Given the description of an element on the screen output the (x, y) to click on. 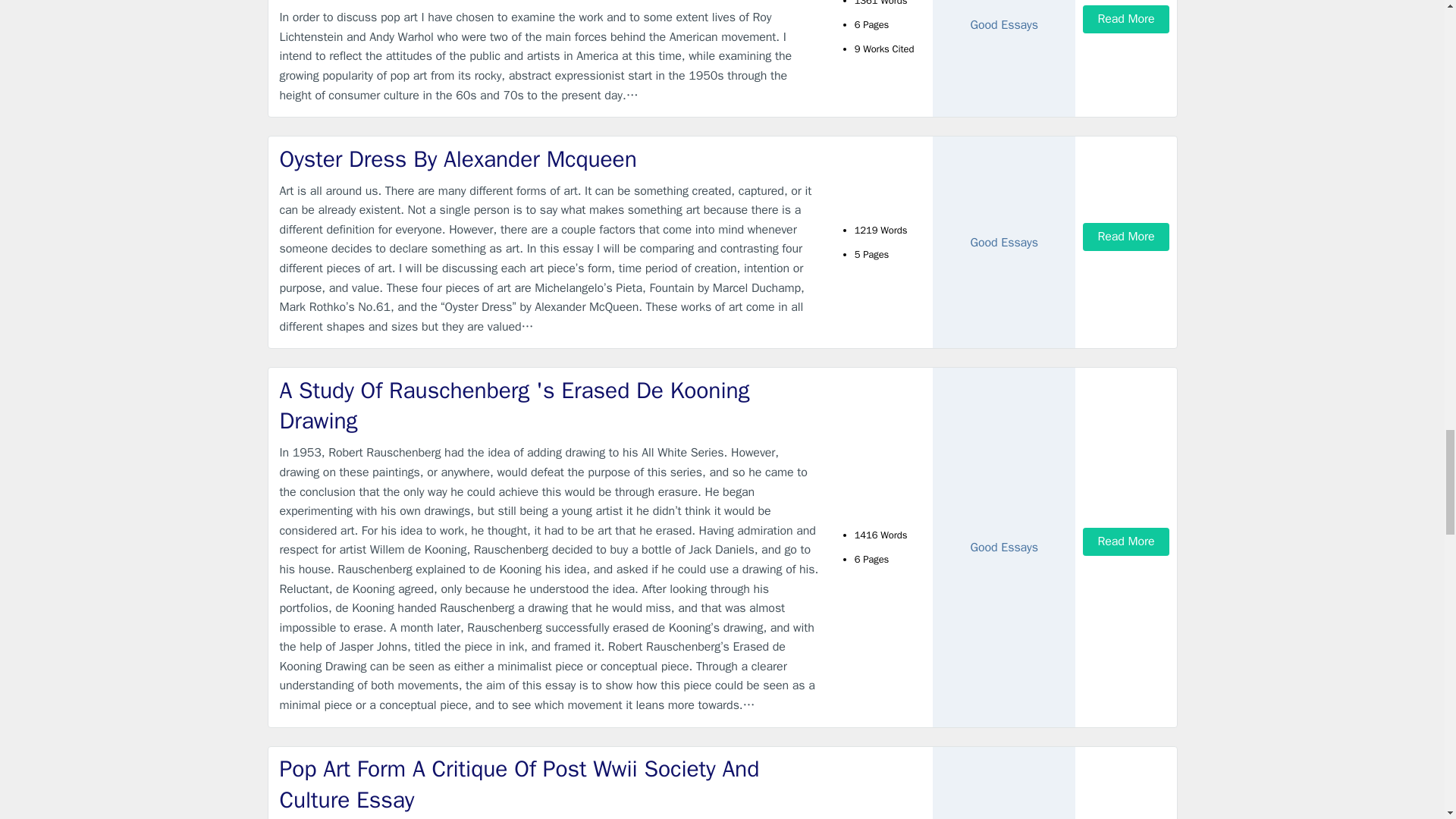
Oyster Dress By Alexander Mcqueen (548, 159)
Read More (1126, 18)
Read More (1126, 236)
